Given the description of an element on the screen output the (x, y) to click on. 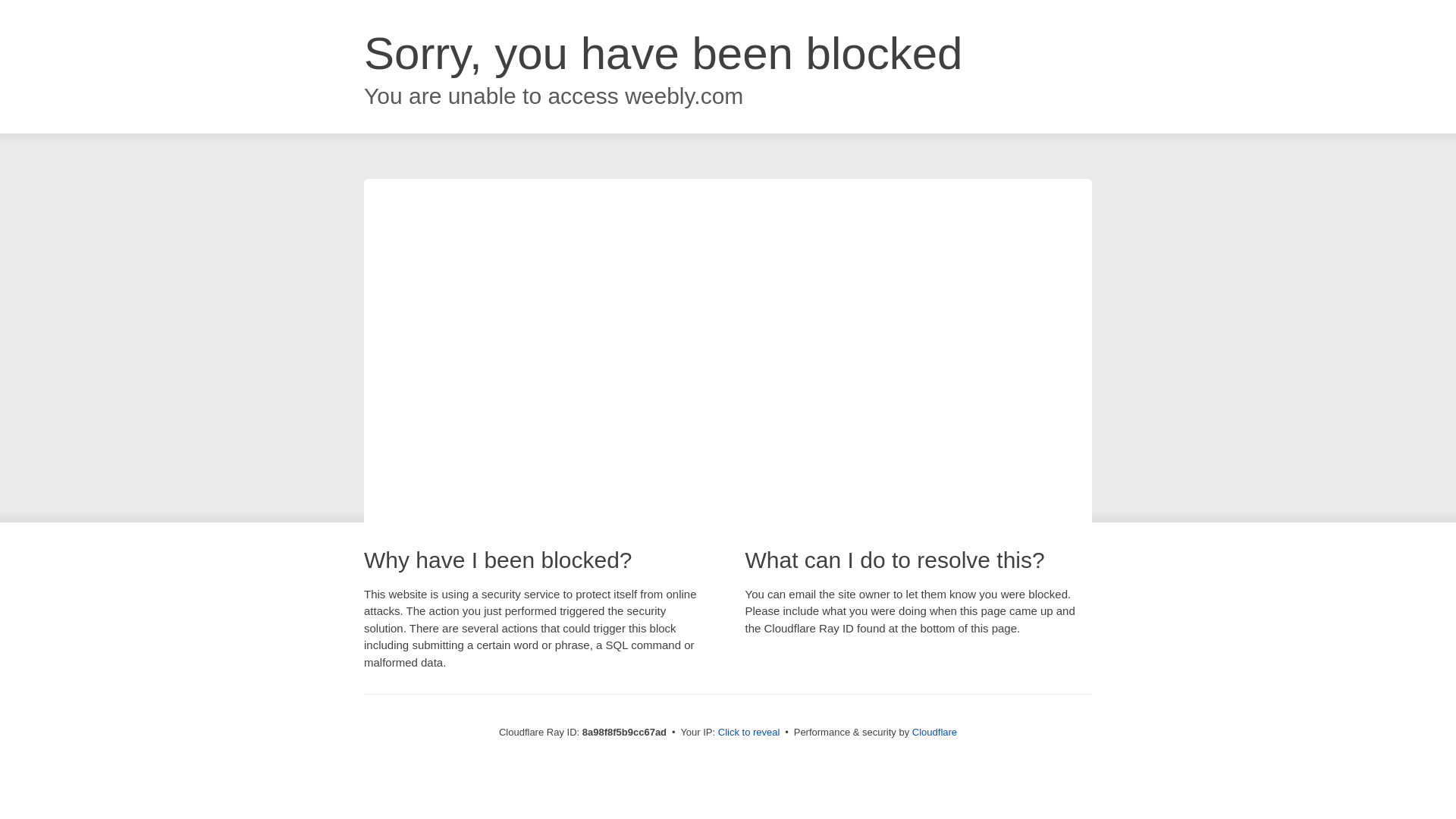
Click to reveal (748, 732)
Cloudflare (934, 731)
